Given the description of an element on the screen output the (x, y) to click on. 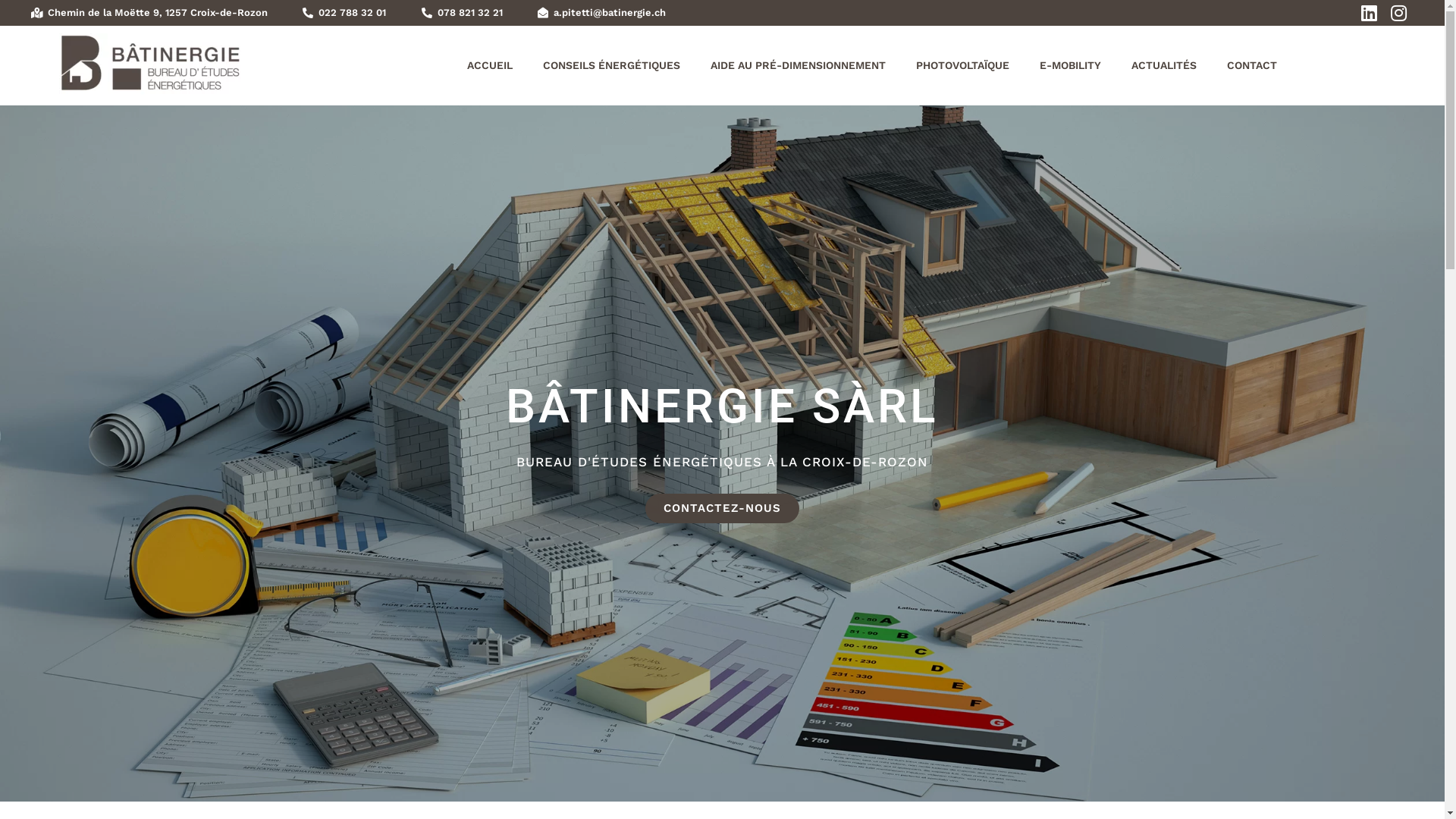
CONTACTEZ-NOUS Element type: text (722, 508)
078 821 32 21 Element type: text (461, 12)
E-MOBILITY Element type: text (1070, 64)
ACCUEIL Element type: text (489, 64)
022 788 32 01 Element type: text (343, 12)
CONTACT Element type: text (1251, 64)
a.pitetti@batinergie.ch Element type: text (601, 12)
